Given the description of an element on the screen output the (x, y) to click on. 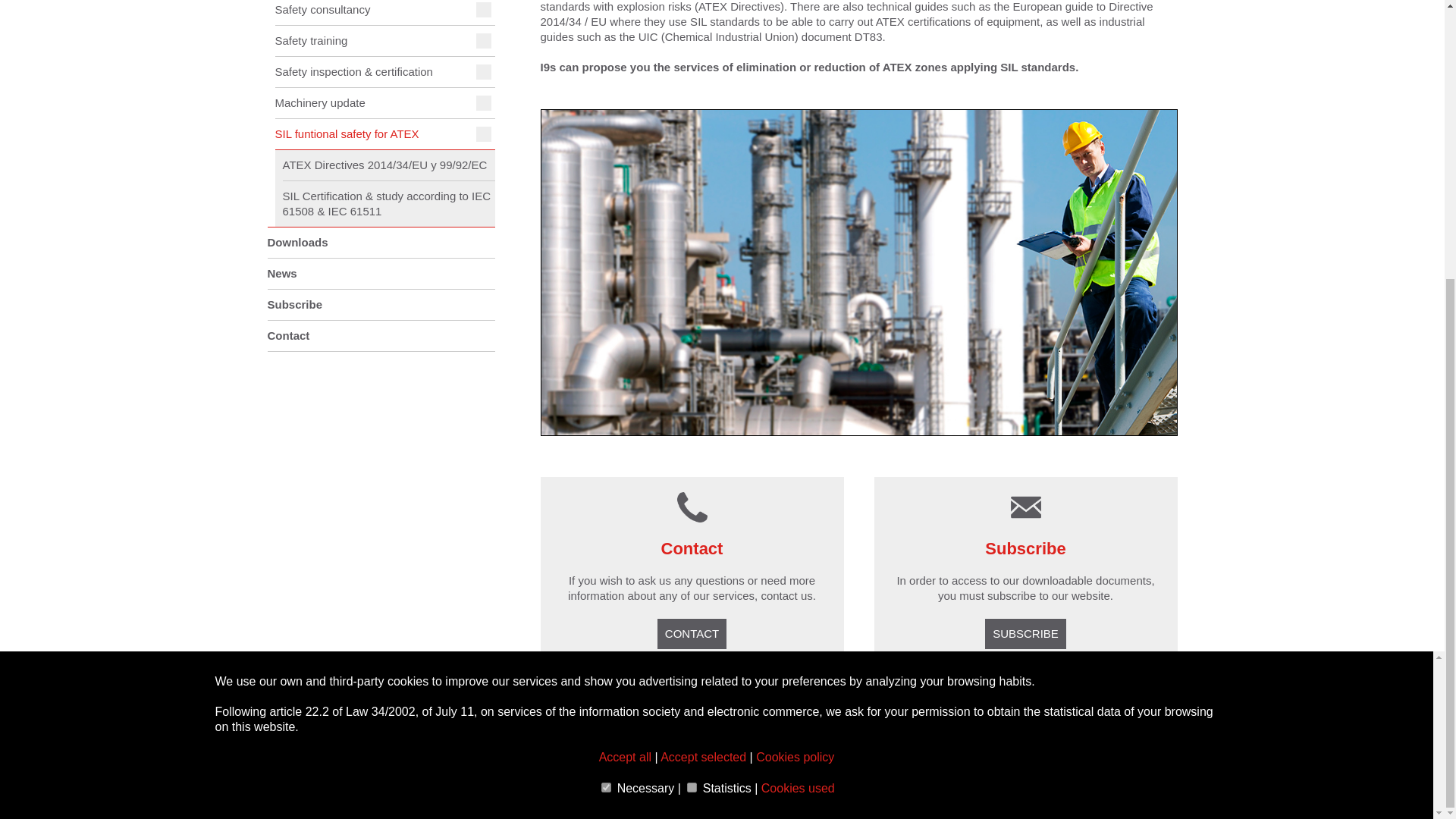
necessarias (606, 372)
Safety training (385, 40)
estadisticas (692, 372)
Safety consultancy (385, 12)
